Given the description of an element on the screen output the (x, y) to click on. 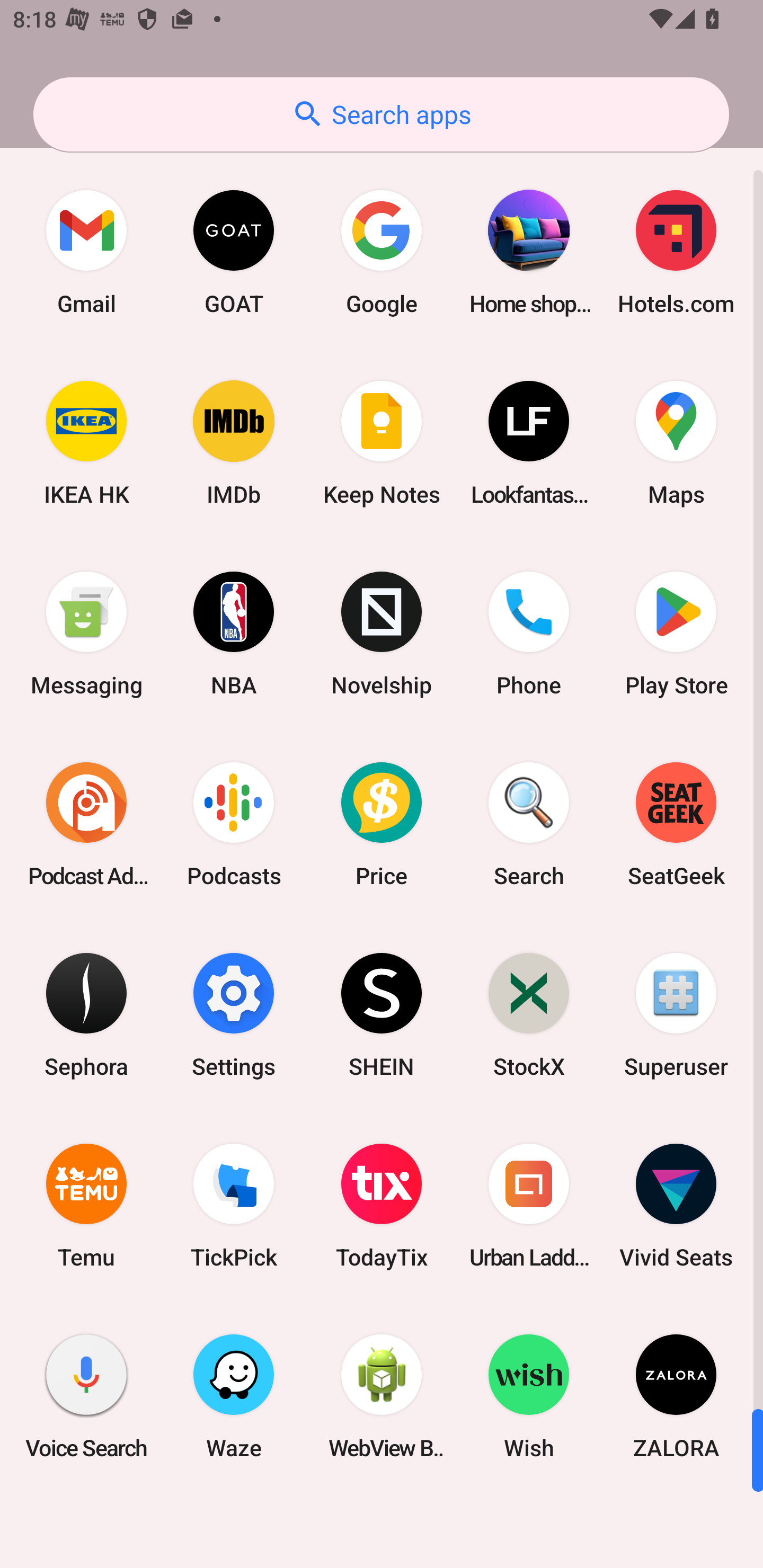
  Search apps (381, 114)
Gmail (86, 252)
GOAT (233, 252)
Google (381, 252)
Home shopping (528, 252)
Hotels.com (676, 252)
IKEA HK (86, 442)
IMDb (233, 442)
Keep Notes (381, 442)
Lookfantastic (528, 442)
Maps (676, 442)
Messaging (86, 633)
NBA (233, 633)
Novelship (381, 633)
Phone (528, 633)
Play Store (676, 633)
Podcast Addict (86, 823)
Podcasts (233, 823)
Price (381, 823)
Search (528, 823)
SeatGeek (676, 823)
Sephora (86, 1014)
Settings (233, 1014)
SHEIN (381, 1014)
StockX (528, 1014)
Superuser (676, 1014)
Temu (86, 1205)
TickPick (233, 1205)
TodayTix (381, 1205)
Urban Ladder (528, 1205)
Vivid Seats (676, 1205)
Voice Search (86, 1396)
Waze (233, 1396)
WebView Browser Tester (381, 1396)
Wish (528, 1396)
ZALORA (676, 1396)
